Given the description of an element on the screen output the (x, y) to click on. 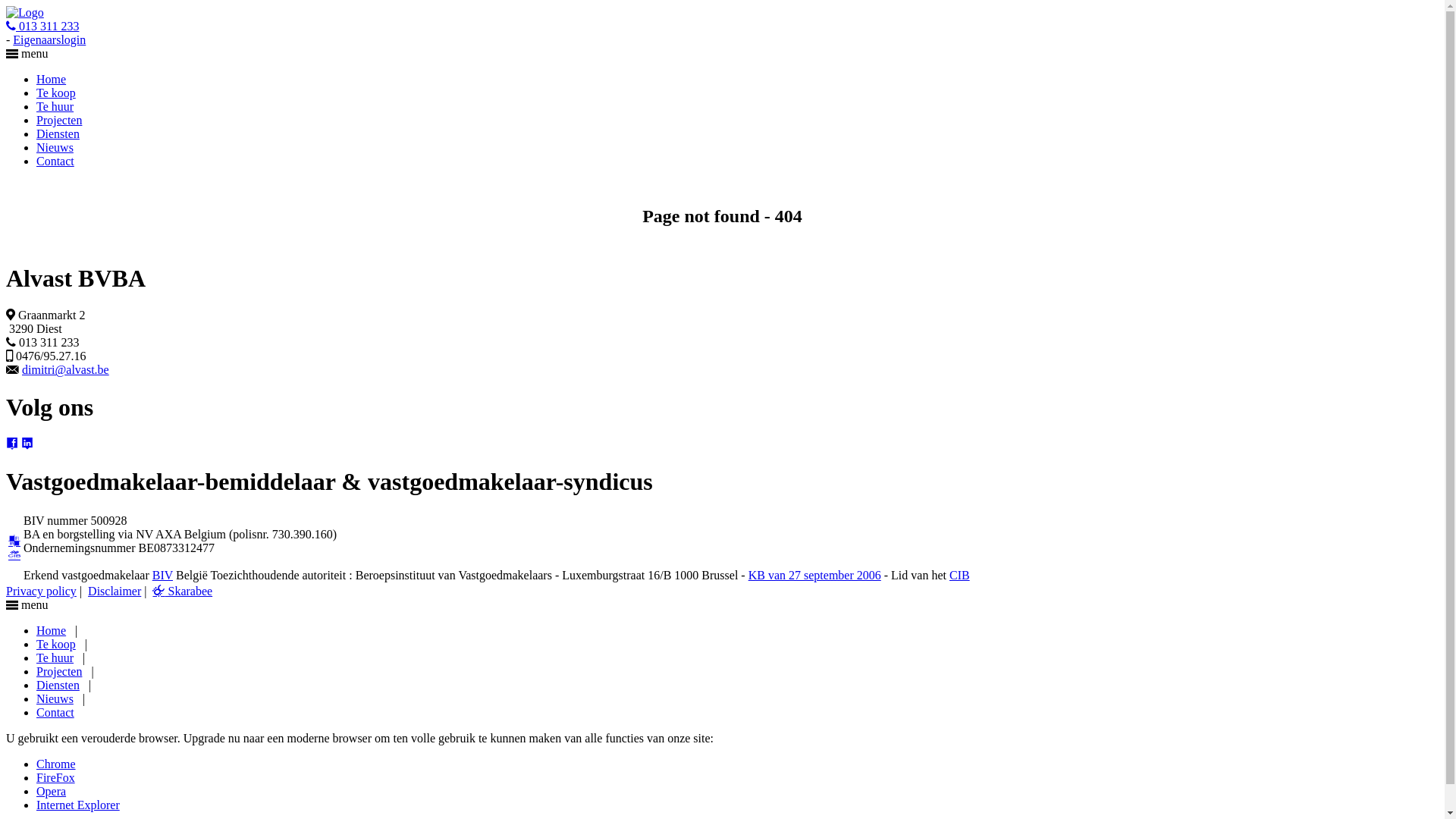
dimitri@alvast.be Element type: text (65, 369)
013 311 233 Element type: text (42, 25)
Contact Element type: text (55, 160)
Diensten Element type: text (57, 133)
Diensten Element type: text (57, 684)
BIV Element type: text (162, 574)
Projecten Element type: text (58, 119)
Chrome Element type: text (55, 763)
Disclaimer Element type: text (114, 590)
Te koop Element type: text (55, 92)
Te huur Element type: text (54, 106)
 Skarabee Element type: text (182, 590)
Opera Element type: text (50, 790)
Home Element type: text (50, 78)
CIB Element type: text (959, 574)
Projecten Element type: text (58, 671)
Privacy policy Element type: text (41, 590)
Home Element type: text (50, 630)
Contact Element type: text (55, 712)
Nieuws Element type: text (54, 147)
FireFox Element type: text (55, 777)
KB van 27 september 2006 Element type: text (814, 574)
Eigenaarslogin Element type: text (48, 39)
Nieuws Element type: text (54, 698)
Te koop Element type: text (55, 643)
Internet Explorer Element type: text (77, 804)
Te huur Element type: text (54, 657)
